Given the description of an element on the screen output the (x, y) to click on. 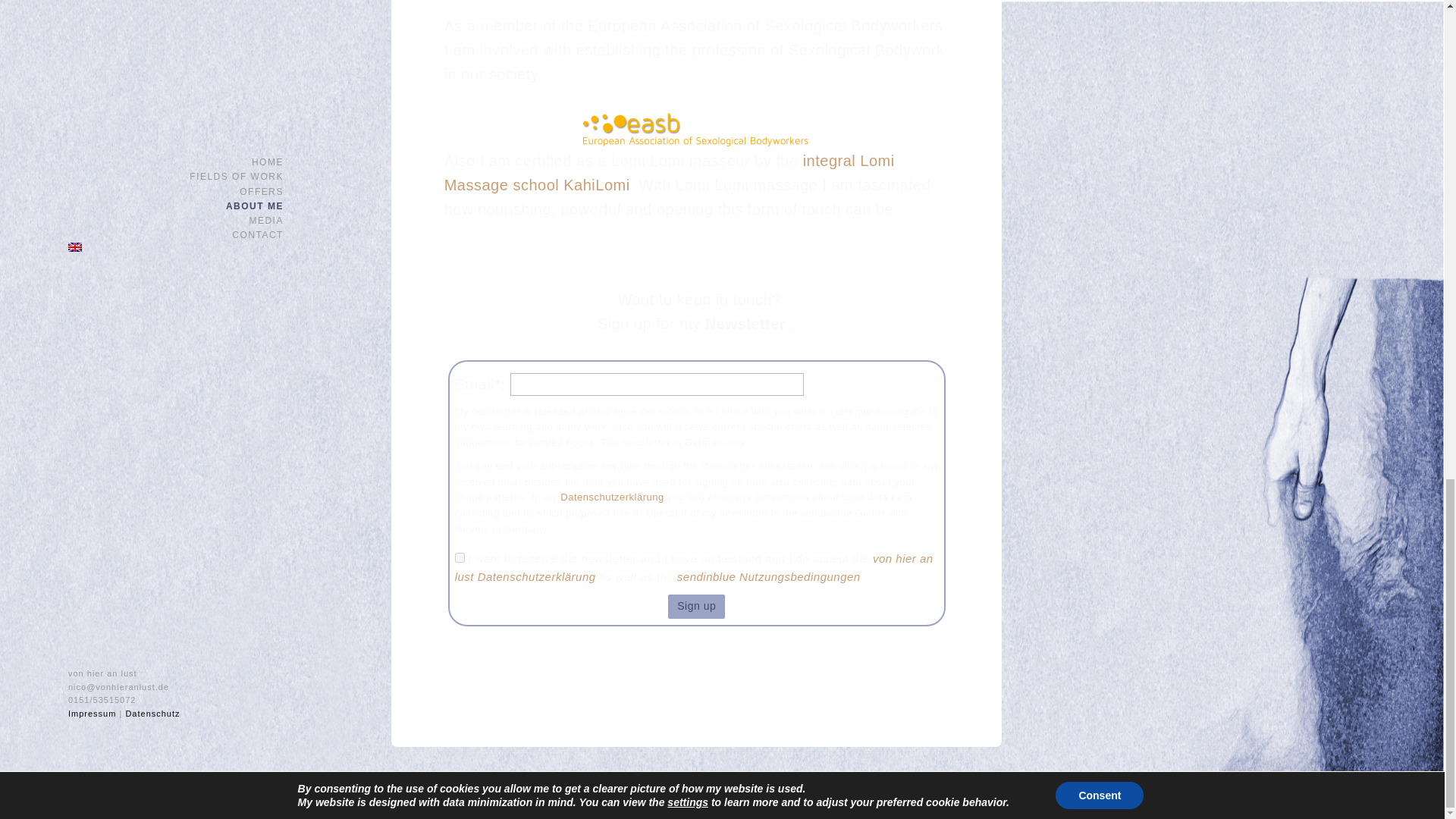
sendinblue Nutzungsbedingungen (768, 576)
integral Lomi Massage school KahiLomi (669, 172)
on (459, 557)
Sign up (695, 606)
Sign up (695, 606)
